Given the description of an element on the screen output the (x, y) to click on. 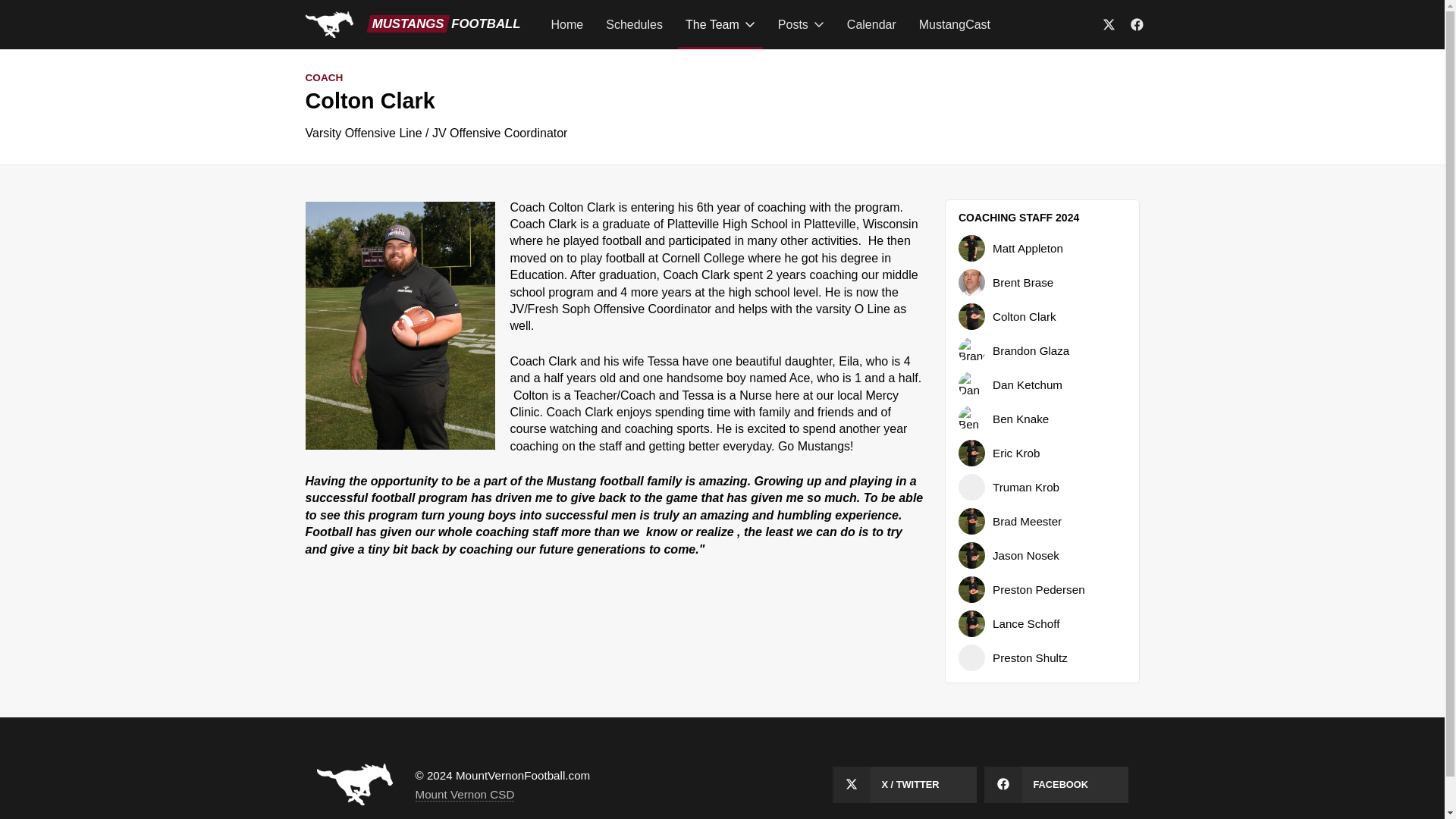
Matt Appleton (1041, 248)
Jason Nosek (1041, 555)
Brad Meester (1041, 520)
Home (567, 24)
Posts (800, 24)
FACEBOOK (1056, 784)
Eric Krob (1041, 452)
Lance Schoff (1041, 623)
Ben Knake (1041, 418)
Preston Pedersen (1041, 589)
Mount Vernon CSD (464, 794)
Calendar (872, 24)
Colton Clark (1041, 316)
Brent Brase (1041, 282)
Truman Krob (1041, 487)
